Given the description of an element on the screen output the (x, y) to click on. 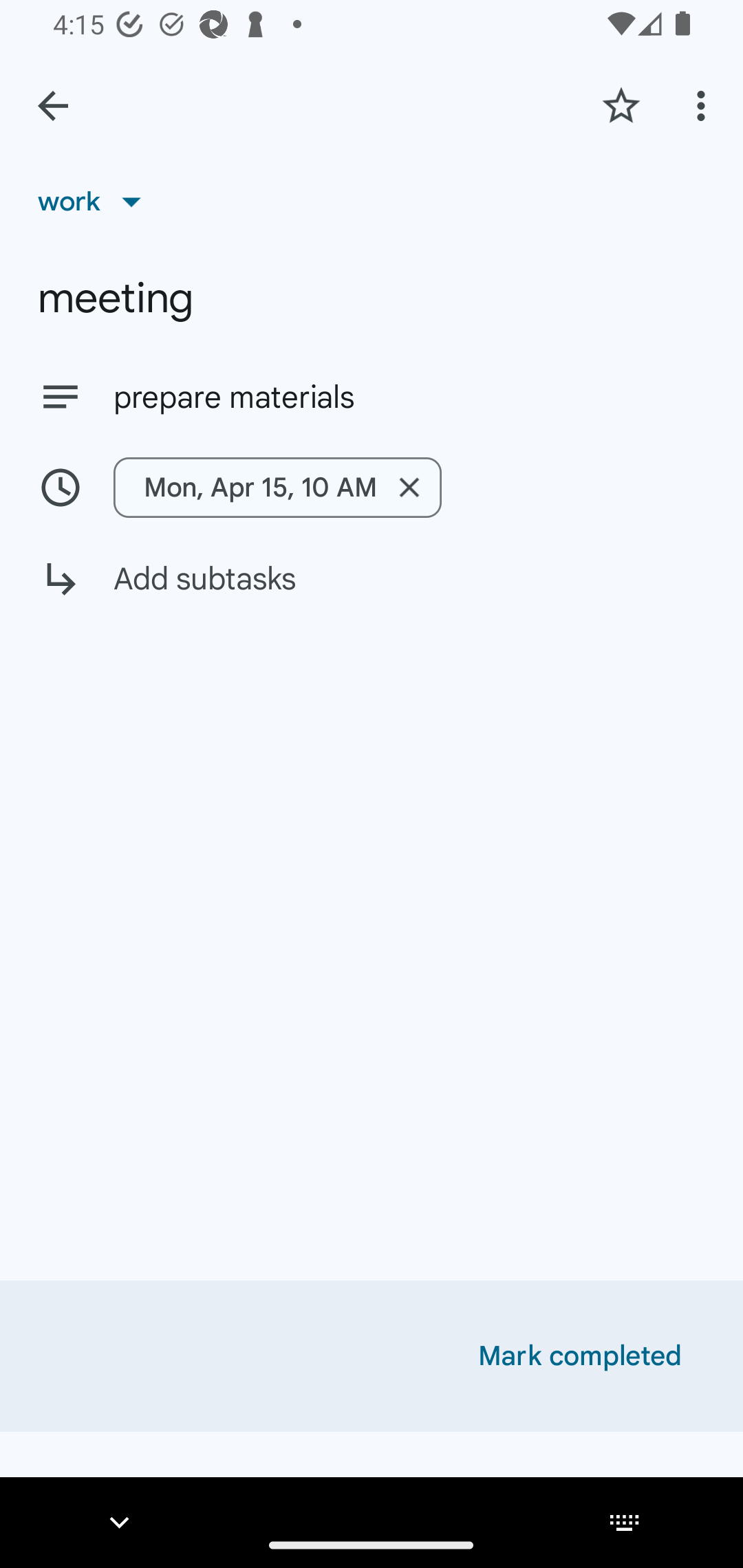
Back (53, 105)
Add star (620, 105)
More options (704, 105)
work List, work selected, 1 of 23 (95, 201)
meeting (371, 298)
prepare materials (371, 396)
prepare materials (409, 397)
Mon, Apr 15, 10 AM Remove date/time (371, 487)
Mon, Apr 15, 10 AM Remove date/time (277, 487)
Add subtasks (371, 593)
Mark completed (580, 1355)
